Given the description of an element on the screen output the (x, y) to click on. 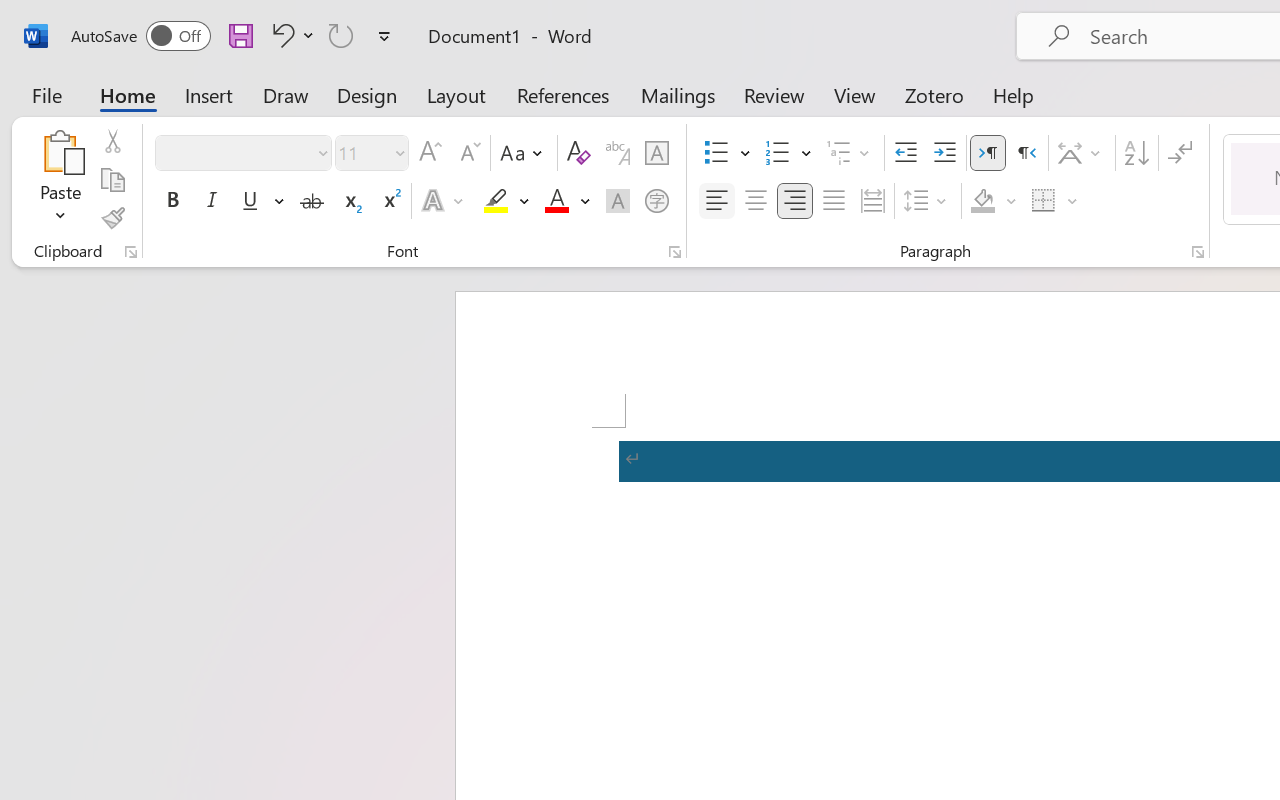
Undo (290, 35)
Shading No Color (982, 201)
